Given the description of an element on the screen output the (x, y) to click on. 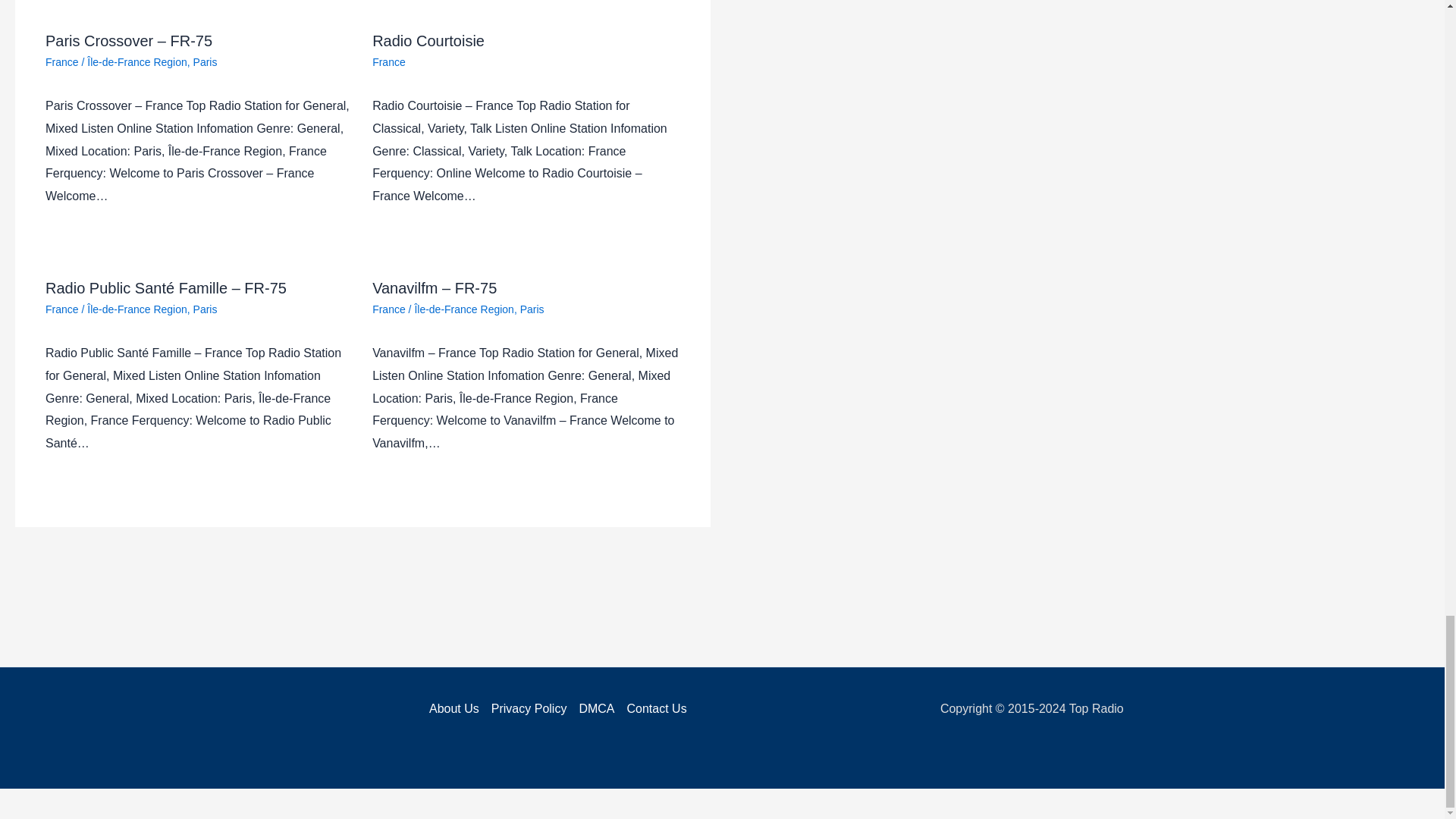
Paris (204, 61)
France (61, 61)
